Given the description of an element on the screen output the (x, y) to click on. 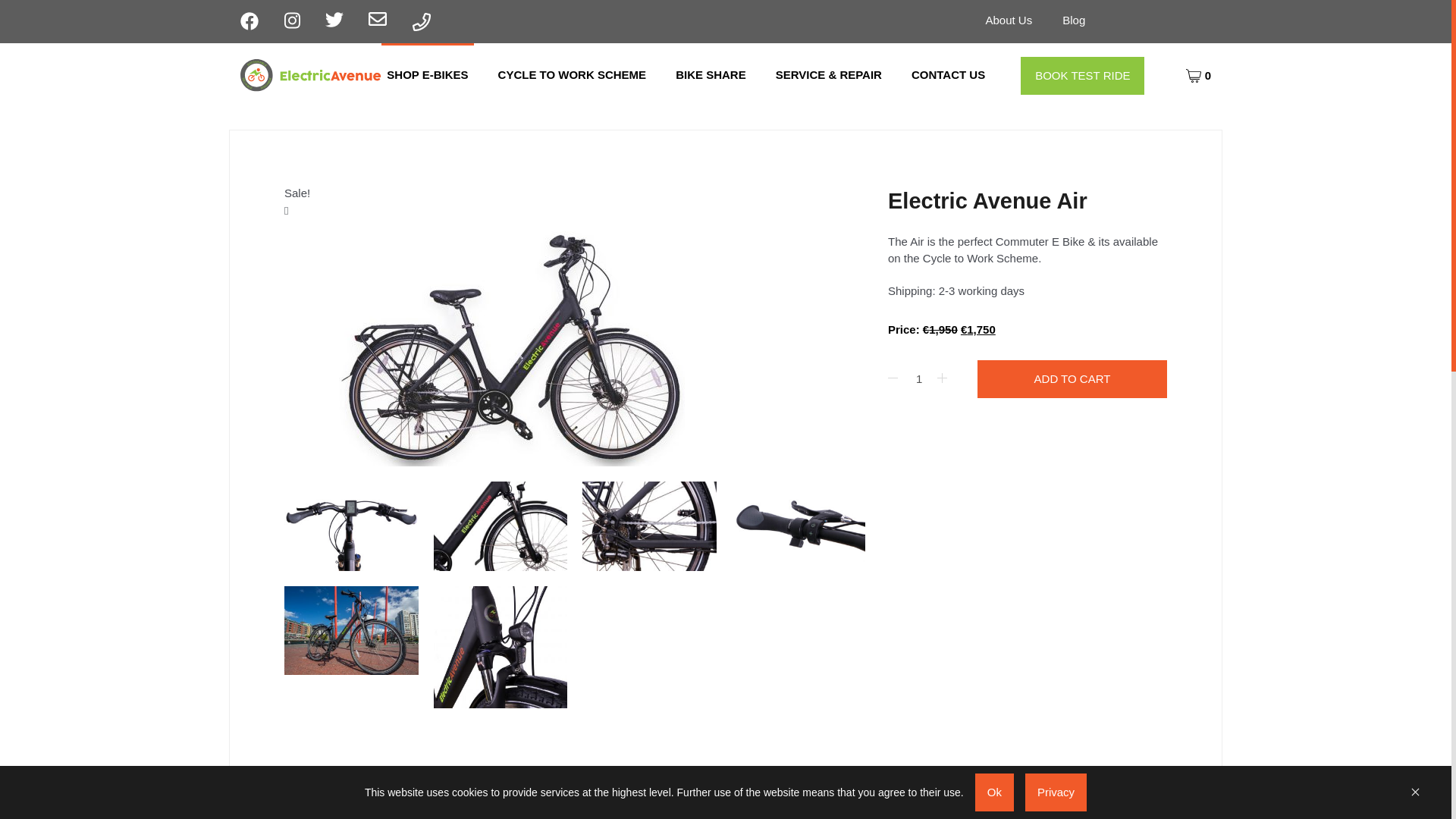
Blog (1073, 19)
BIKE SHARE (710, 75)
About Us (1008, 19)
SHOP E-BIKES (427, 75)
BOOK TEST RIDE (1082, 75)
Ok (994, 792)
Privacy (1055, 792)
Electric-Avenue-Bikes-Commuter-E-Bike-air1 (511, 342)
1 (919, 379)
CYCLE TO WORK SCHEME (572, 75)
0 (1198, 74)
CONTACT US (947, 75)
ADD TO CART (1071, 379)
